Given the description of an element on the screen output the (x, y) to click on. 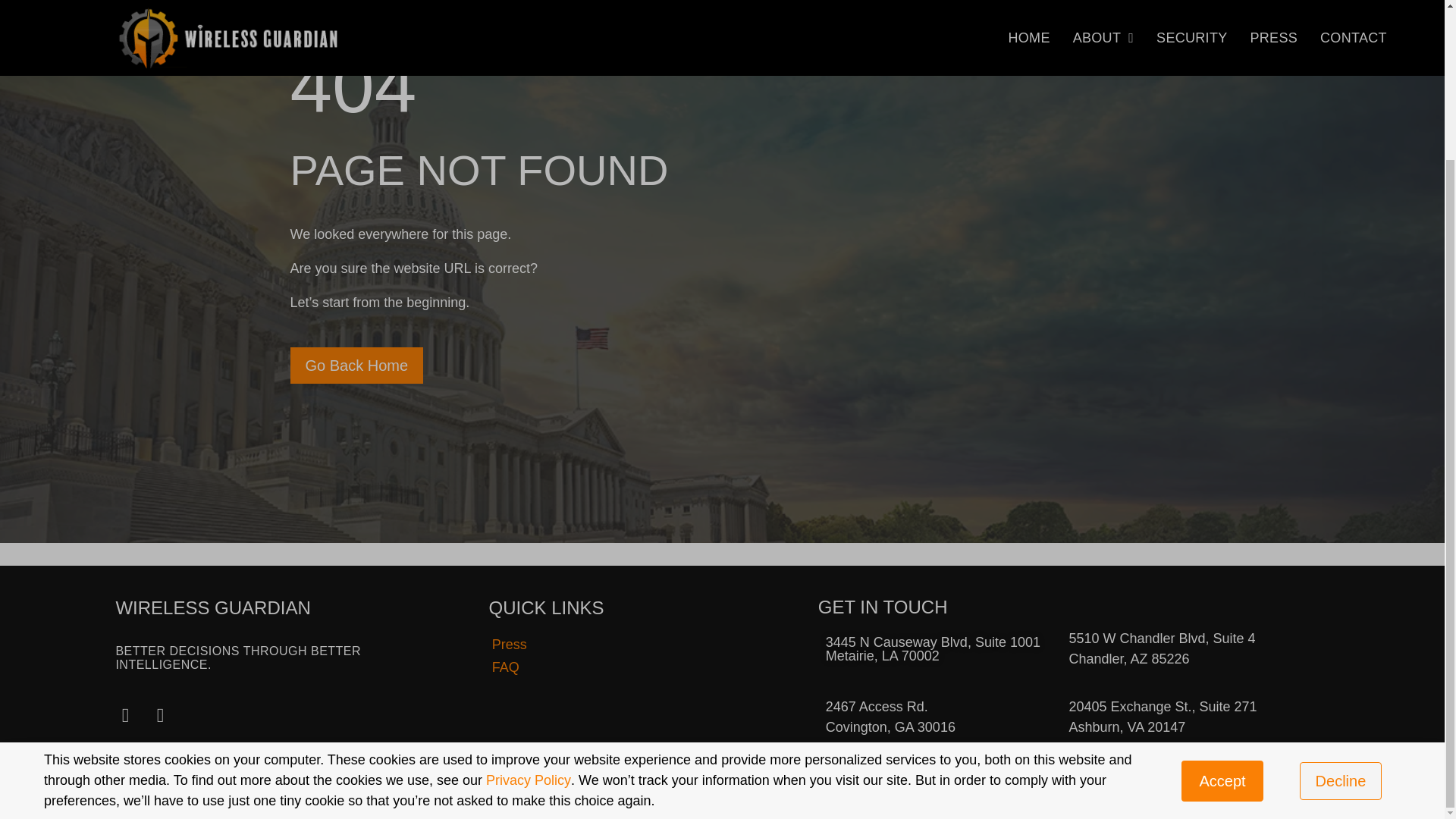
Press (647, 644)
FAQ (647, 667)
Go Back Home (356, 365)
Privacy Policy (528, 591)
Accept (1221, 591)
Decline (1340, 591)
